Given the description of an element on the screen output the (x, y) to click on. 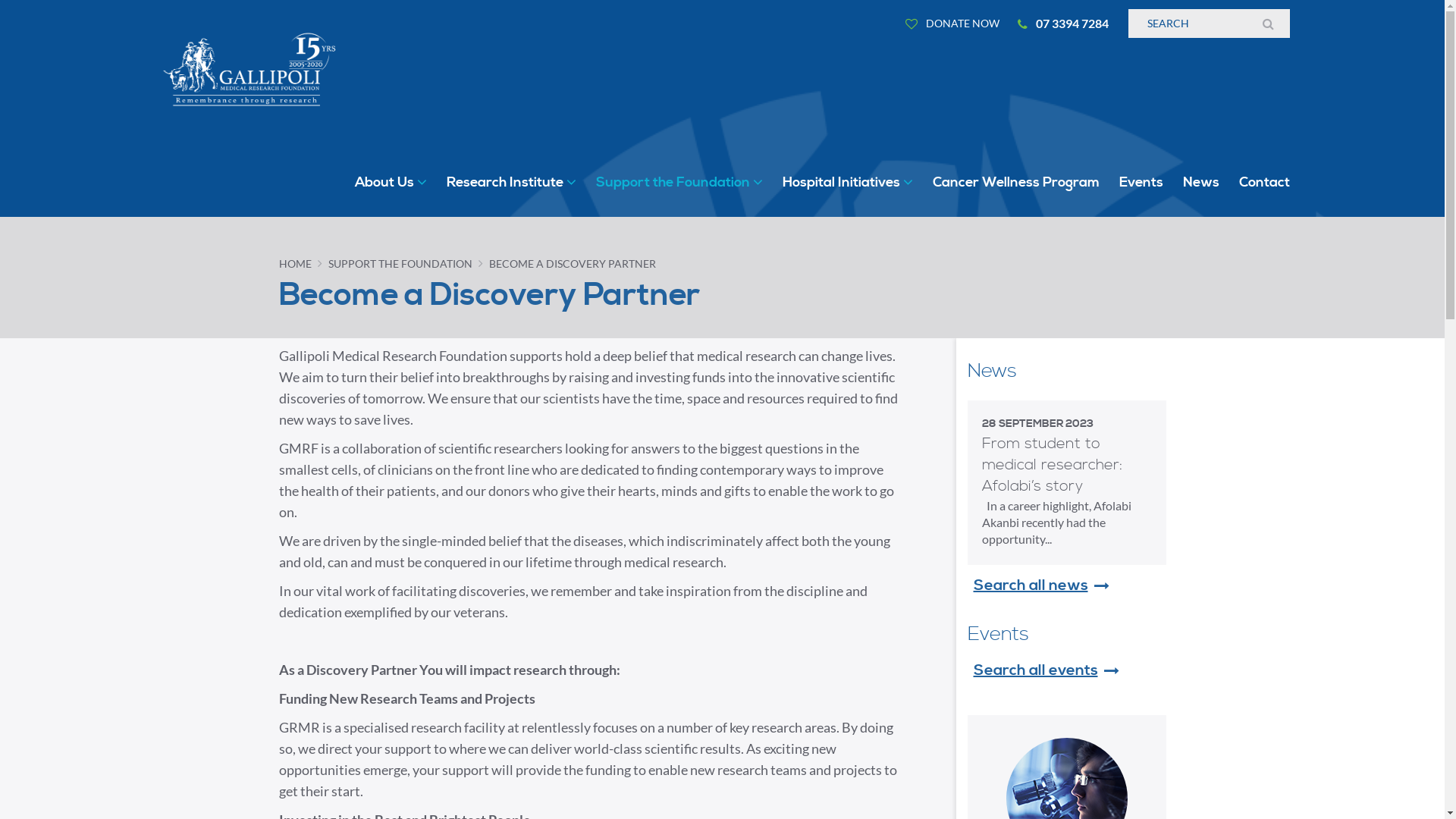
Search all events Element type: text (1035, 670)
SUPPORT THE FOUNDATION Element type: text (399, 263)
HOME Element type: text (295, 263)
News Element type: text (1201, 182)
About Us Element type: text (390, 182)
Contact Element type: text (1264, 182)
Hospital Initiatives Element type: text (847, 182)
07 3394 7284 Element type: text (1062, 23)
DONATE NOW Element type: text (952, 23)
Events Element type: text (1141, 182)
Search all news Element type: text (1030, 586)
Research Institute Element type: text (510, 182)
Cancer Wellness Program Element type: text (1015, 182)
Support the Foundation Element type: text (679, 182)
